Given the description of an element on the screen output the (x, y) to click on. 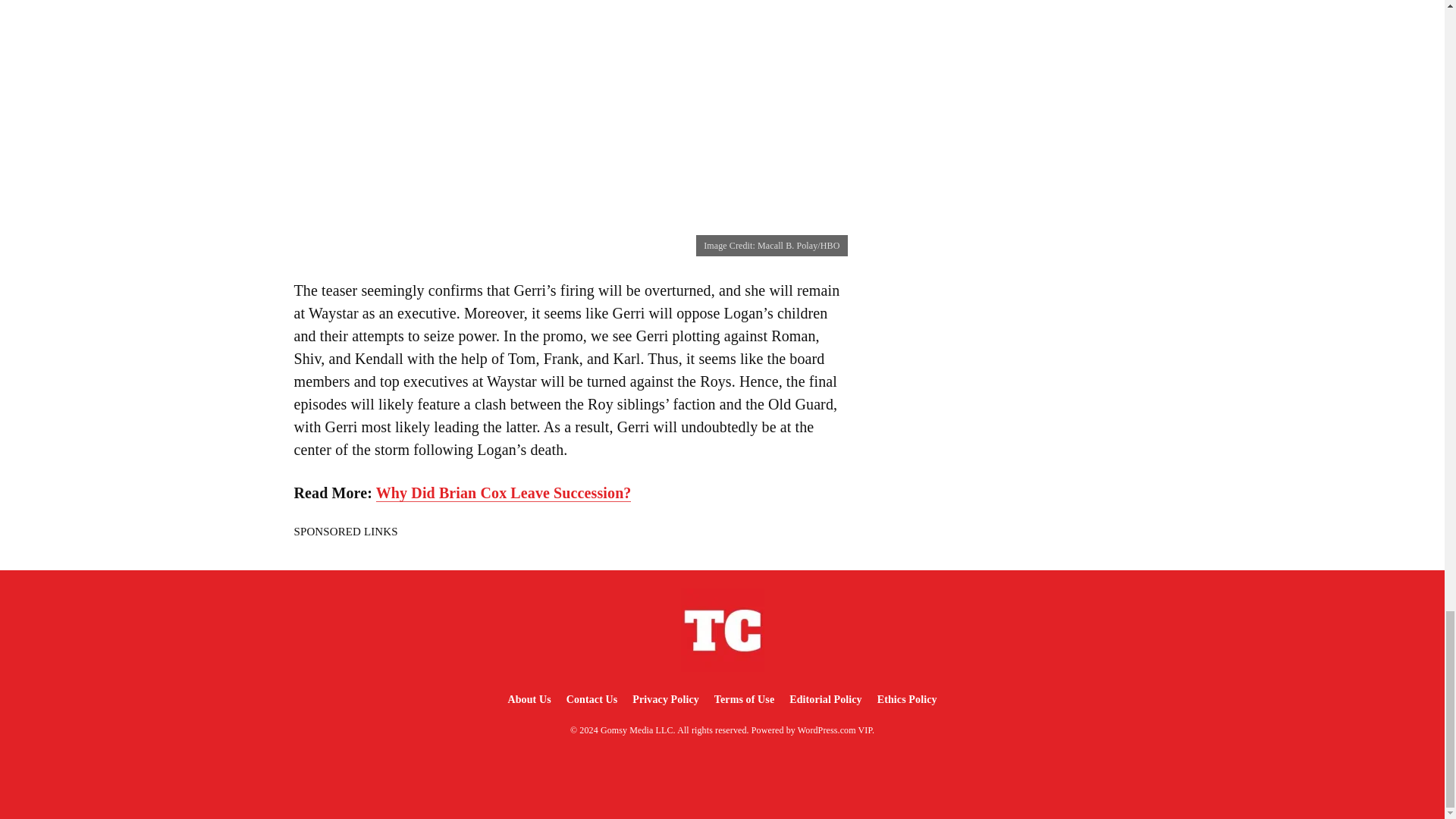
WordPress.com VIP (834, 729)
Ethics Policy (906, 699)
Terms of Use (743, 699)
Privacy Policy (665, 699)
Why Did Brian Cox Leave Succession? (503, 493)
Contact Us (592, 699)
Editorial Policy (825, 699)
About Us (528, 699)
